Given the description of an element on the screen output the (x, y) to click on. 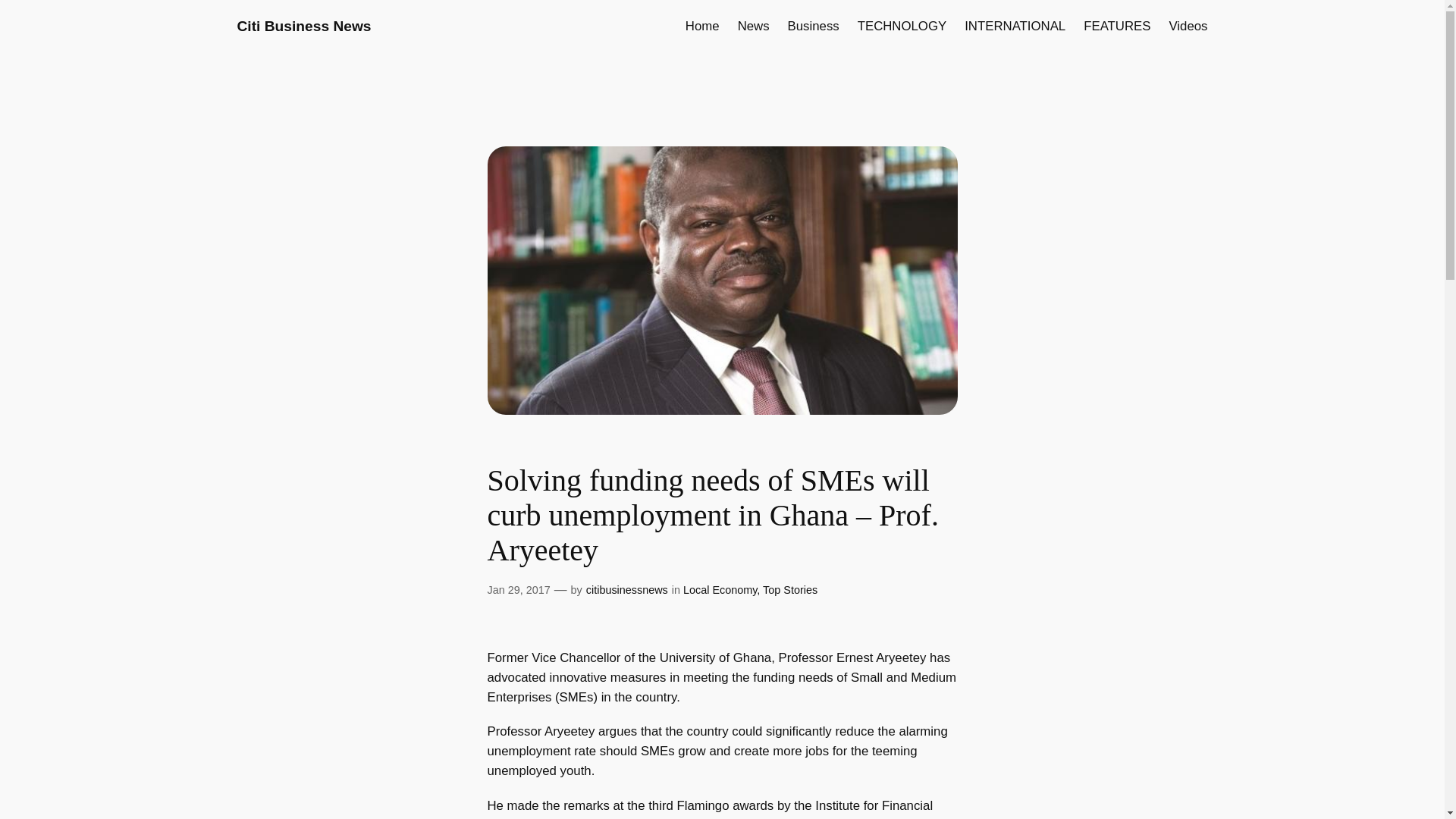
News (754, 26)
Citi Business News (303, 26)
Videos (1188, 26)
citibusinessnews (627, 589)
Jan 29, 2017 (518, 589)
FEATURES (1116, 26)
Home (702, 26)
Business (813, 26)
Top Stories (789, 589)
Local Economy (719, 589)
